Given the description of an element on the screen output the (x, y) to click on. 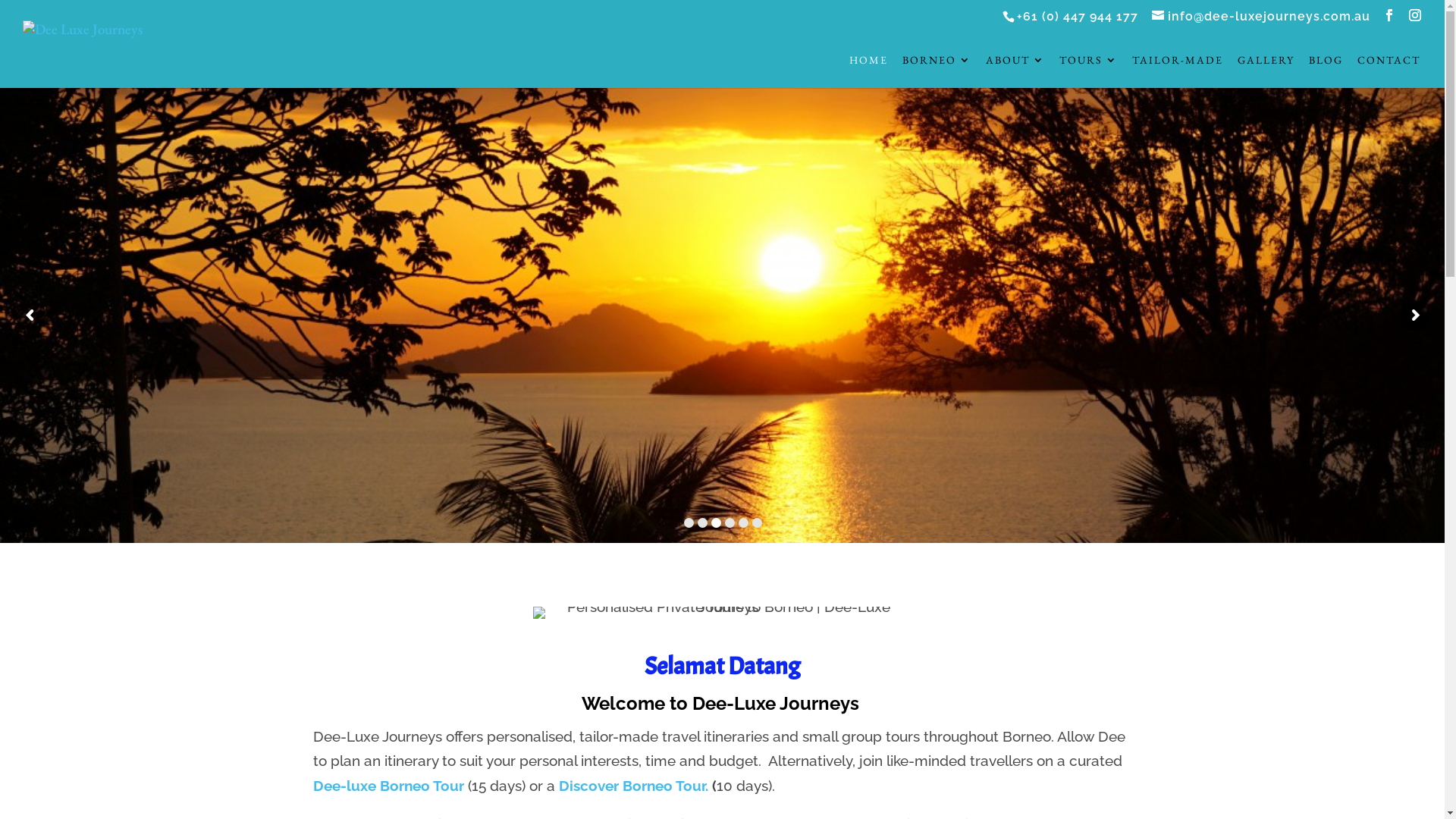
Dee-Luxe Journeys logo Element type: hover (721, 612)
info@dee-luxejourneys.com.au Element type: text (1260, 16)
ABOUT Element type: text (1014, 70)
CONTACT Element type: text (1388, 70)
Discover Borneo Tour.  Element type: text (634, 785)
GALLERY Element type: text (1265, 70)
BORNEO Element type: text (936, 70)
Dee-luxe Borneo Tour Element type: text (389, 785)
HOME Element type: text (868, 70)
BLOG Element type: text (1325, 70)
TAILOR-MADE Element type: text (1177, 70)
TOURS Element type: text (1088, 70)
